Given the description of an element on the screen output the (x, y) to click on. 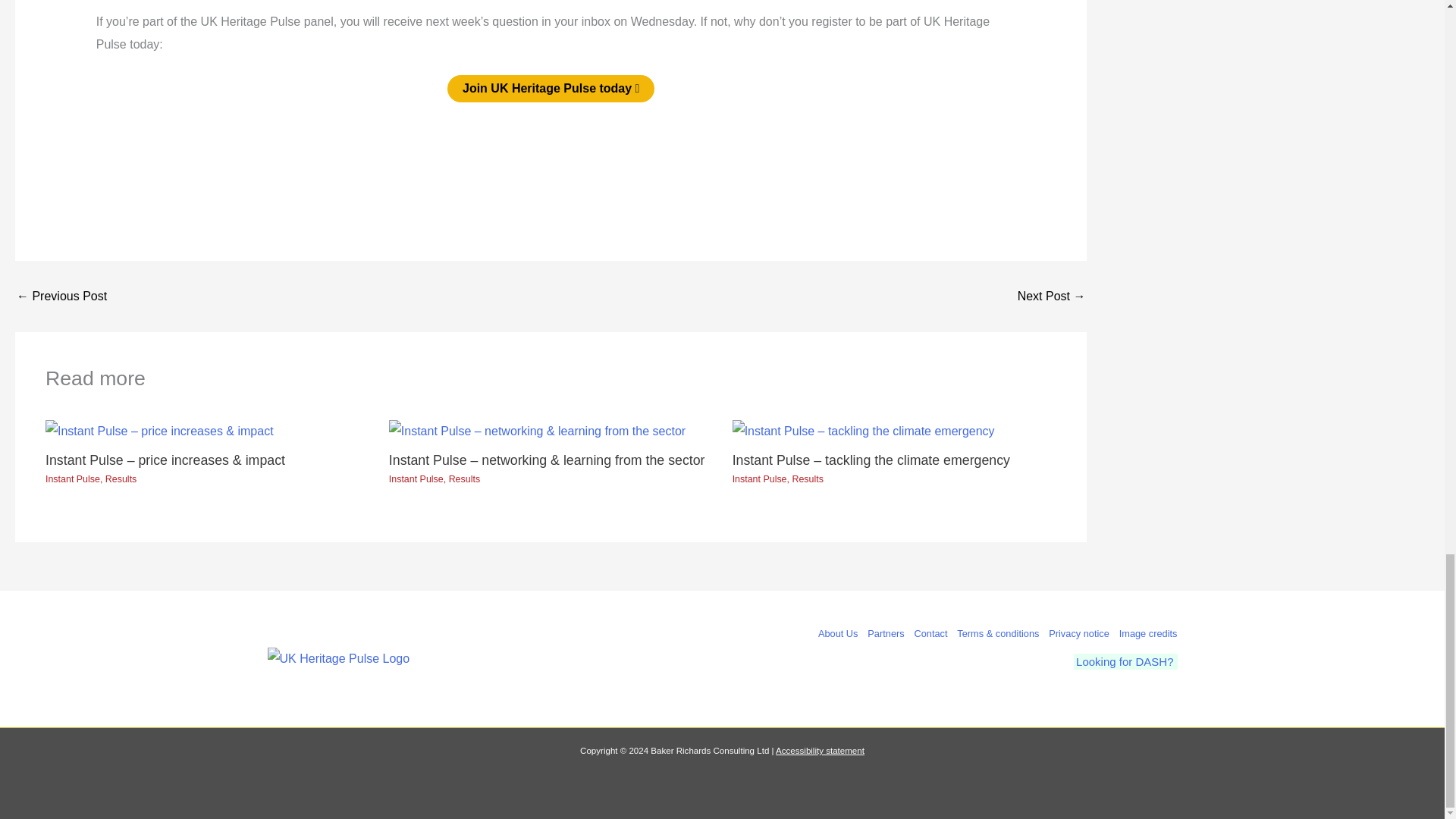
Results (464, 479)
Instant Pulse (416, 479)
Instant Pulse (759, 479)
Results (120, 479)
Results (807, 479)
Instant Pulse (72, 479)
Findings from round 2 of UK Heritage Pulse published (1051, 296)
